Given the description of an element on the screen output the (x, y) to click on. 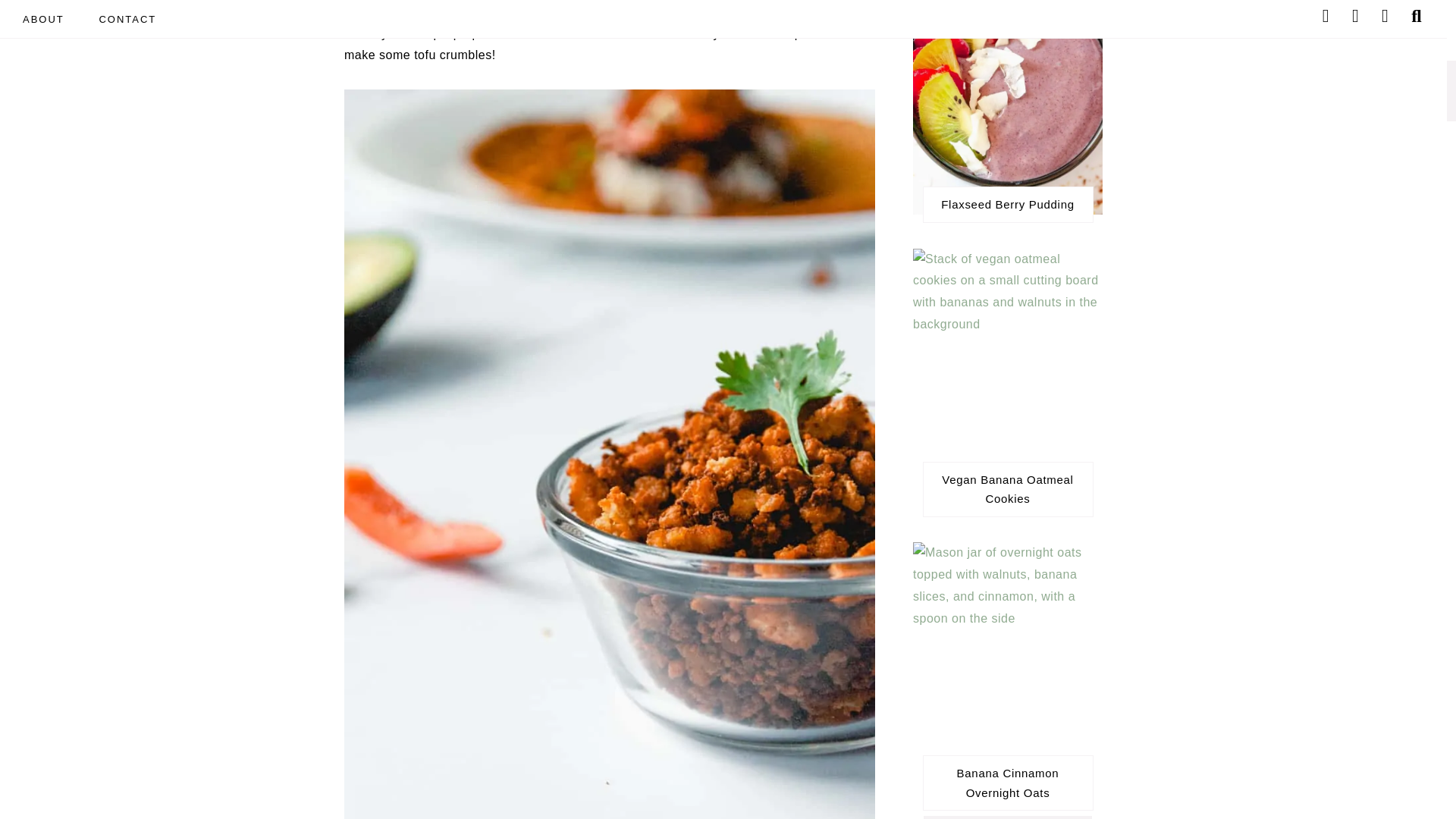
Breakfast (1007, 817)
tomato paste (692, 11)
extra-firm tofu (609, 9)
